Given the description of an element on the screen output the (x, y) to click on. 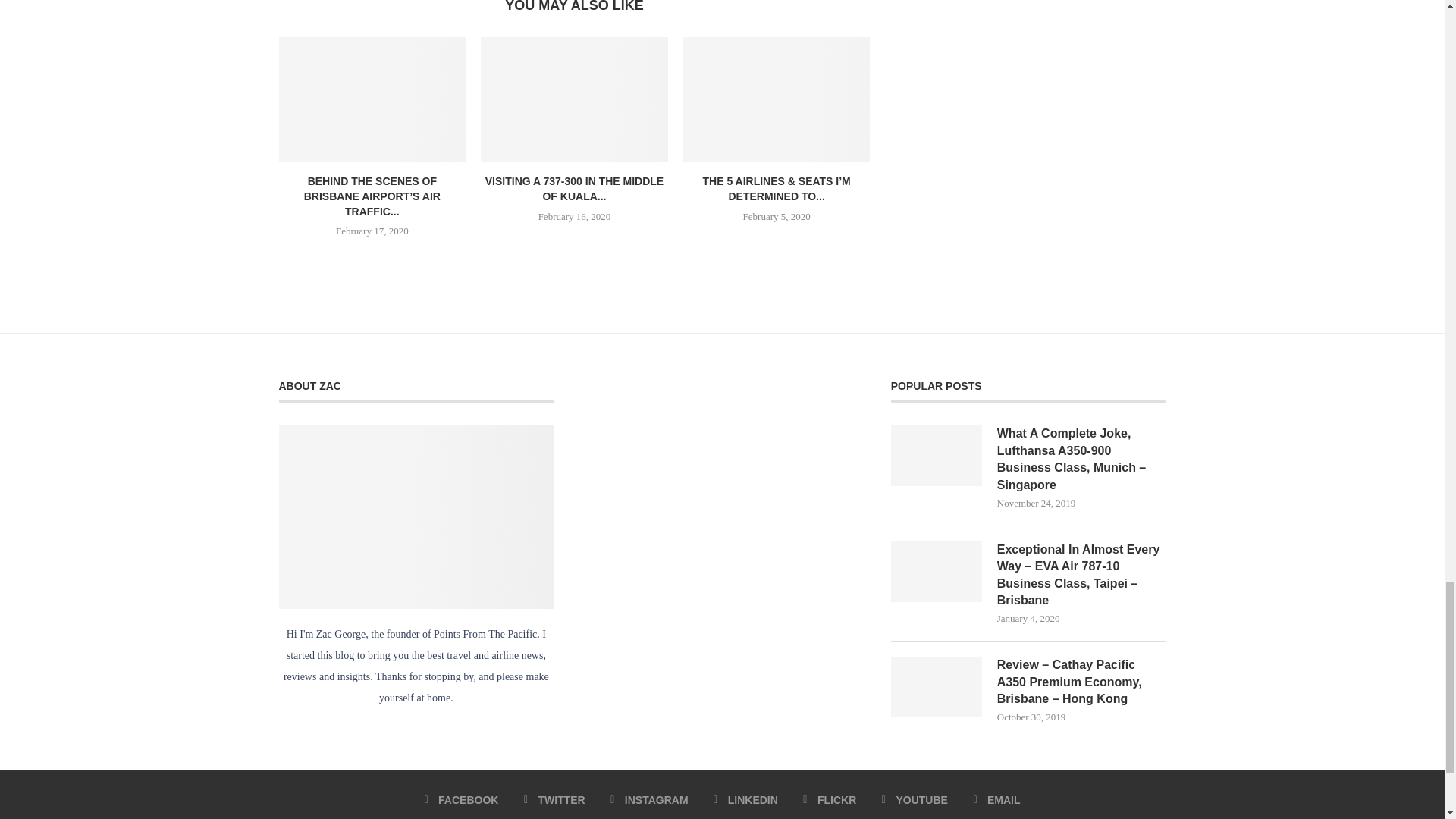
Visiting A 737-300 In The Middle Of Kuala Lumpur (574, 98)
